Given the description of an element on the screen output the (x, y) to click on. 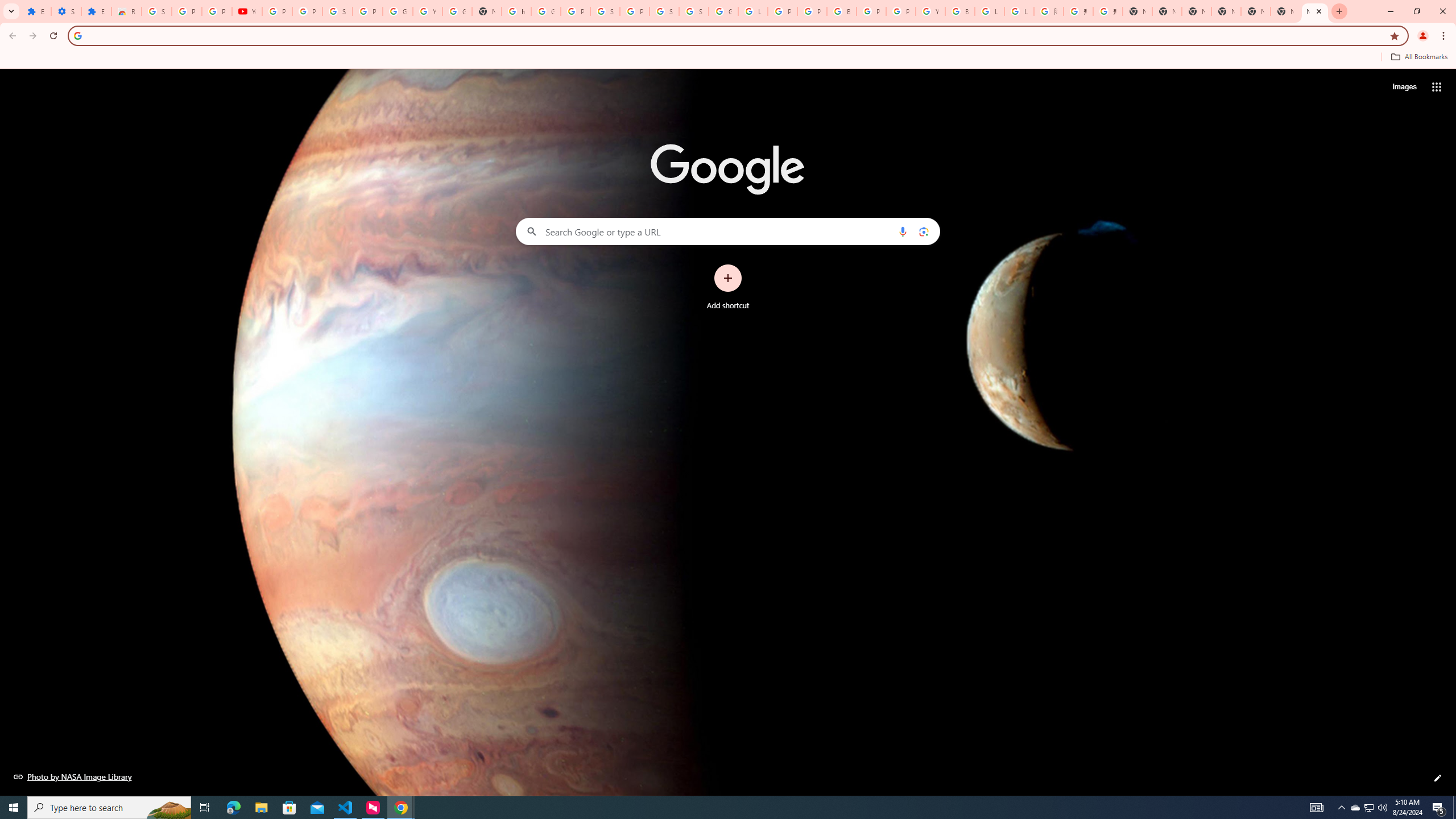
Sign in - Google Accounts (693, 11)
Privacy Help Center - Policies Help (782, 11)
Photo by NASA Image Library (72, 776)
Sign in - Google Accounts (337, 11)
Reviews: Helix Fruit Jump Arcade Game (126, 11)
